Given the description of an element on the screen output the (x, y) to click on. 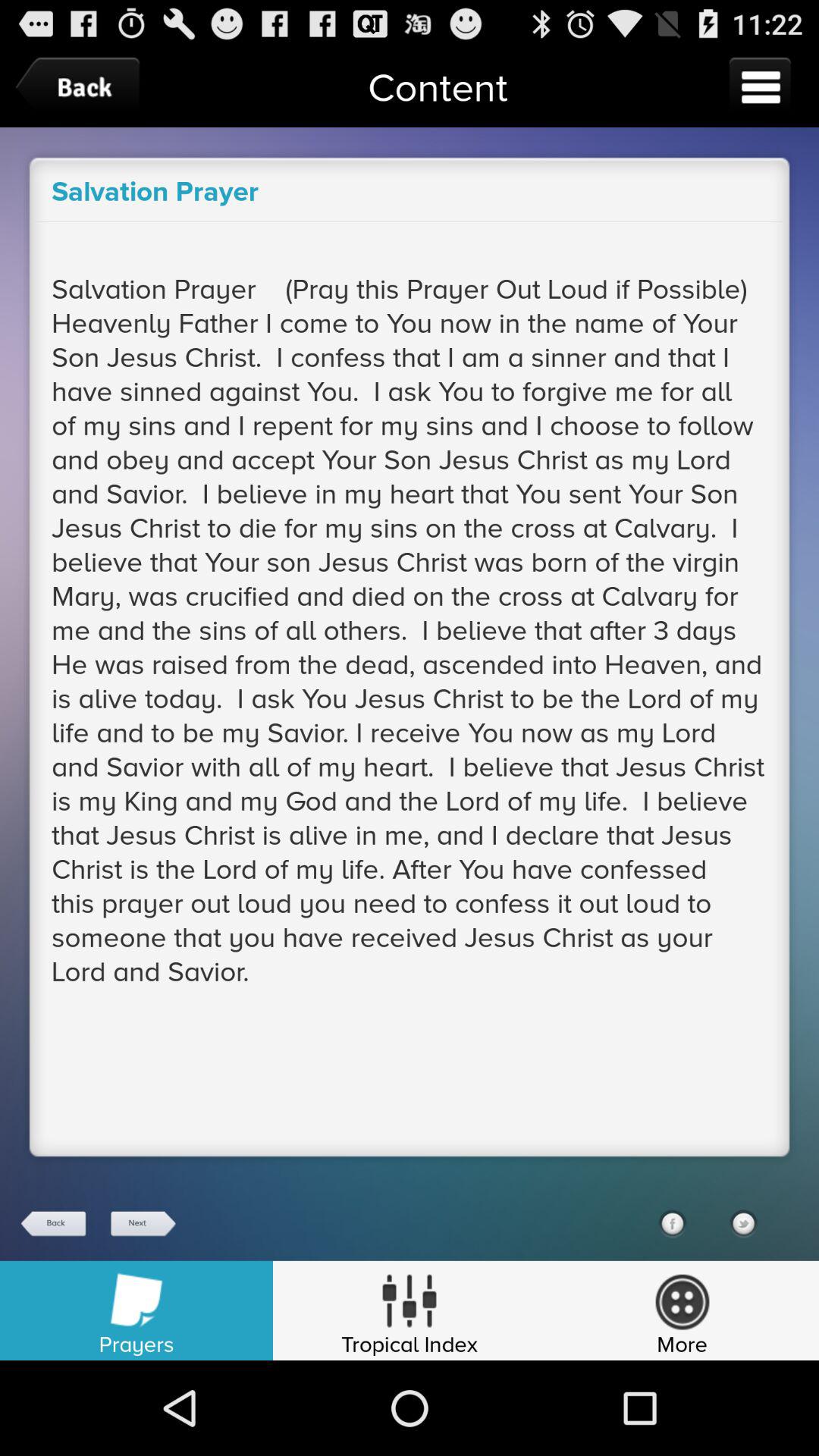
open item below salvation prayer pray item (53, 1223)
